Given the description of an element on the screen output the (x, y) to click on. 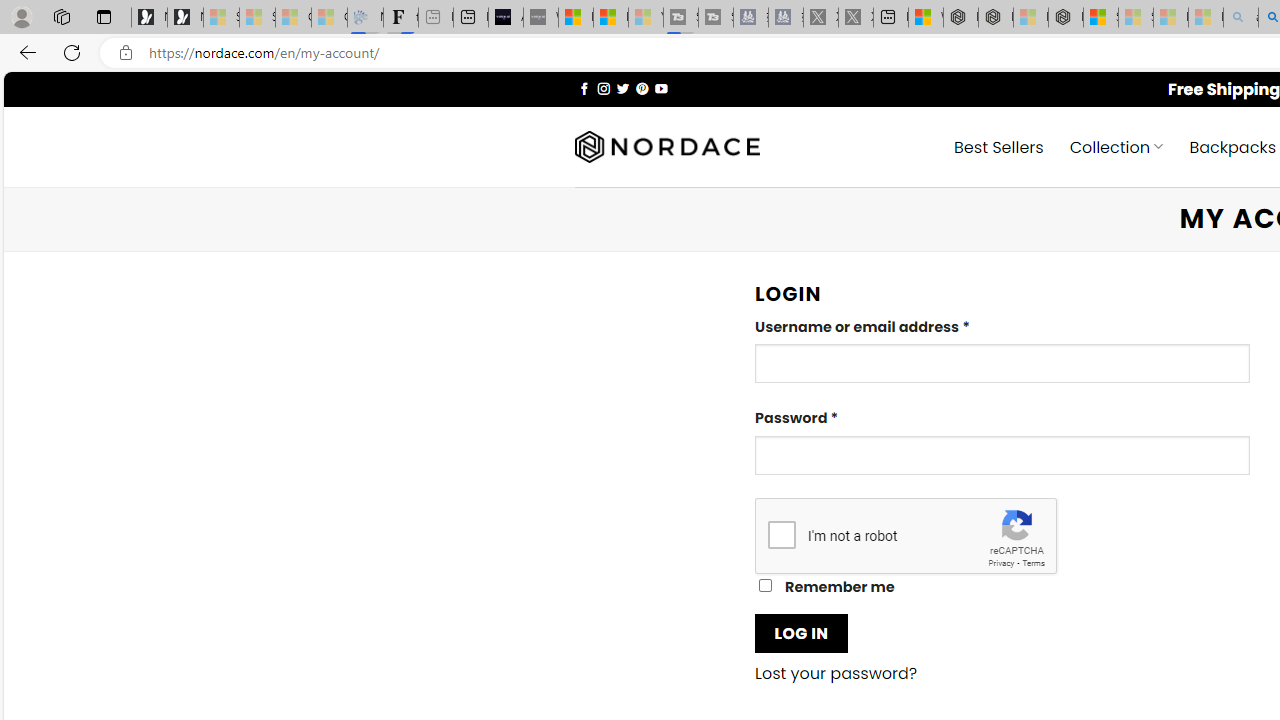
Lost your password? (836, 673)
I'm not a robot (782, 533)
  Best Sellers (998, 146)
Terms (1033, 562)
